Given the description of an element on the screen output the (x, y) to click on. 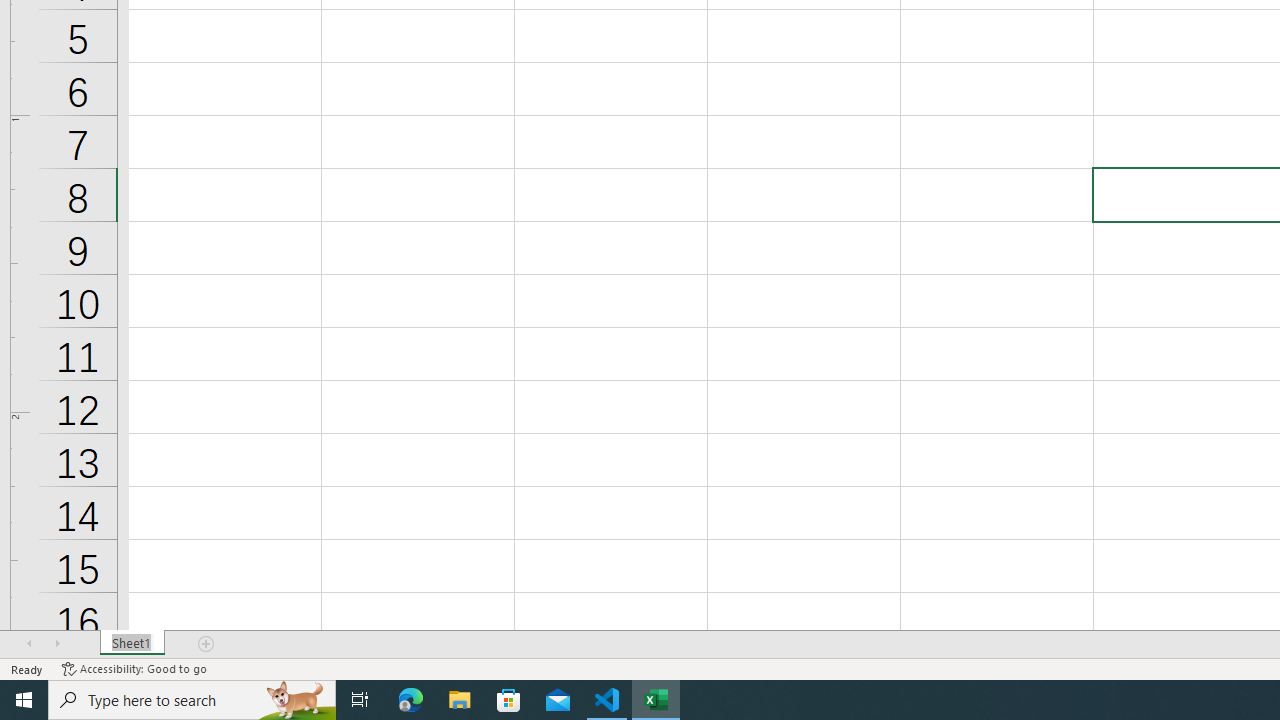
Sheet Tab (132, 644)
